Given the description of an element on the screen output the (x, y) to click on. 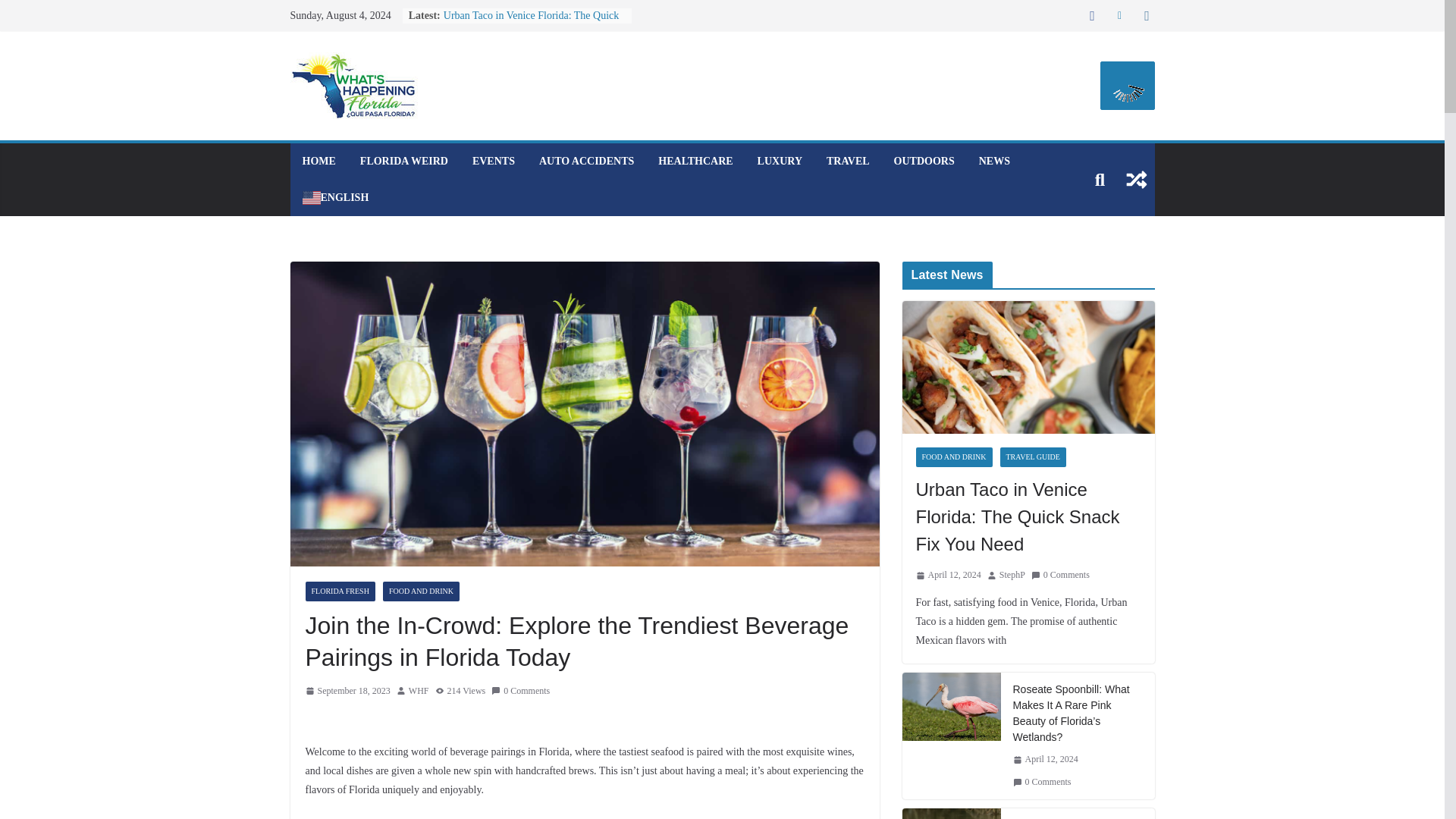
ENGLISH (334, 197)
Urban Taco in Venice Florida: The Quick Snack Fix You Need (1028, 516)
FOOD AND DRINK (421, 591)
4:03 pm (948, 575)
Urban Taco in Venice Florida: The Quick Snack Fix You Need (532, 22)
English (334, 197)
8:31 pm (347, 691)
AUTO ACCIDENTS (585, 160)
EVENTS (493, 160)
WHF (419, 691)
WHF (419, 691)
September 18, 2023 (347, 691)
Urban Taco in Venice Florida: The Quick Snack Fix You Need (1028, 367)
